Given the description of an element on the screen output the (x, y) to click on. 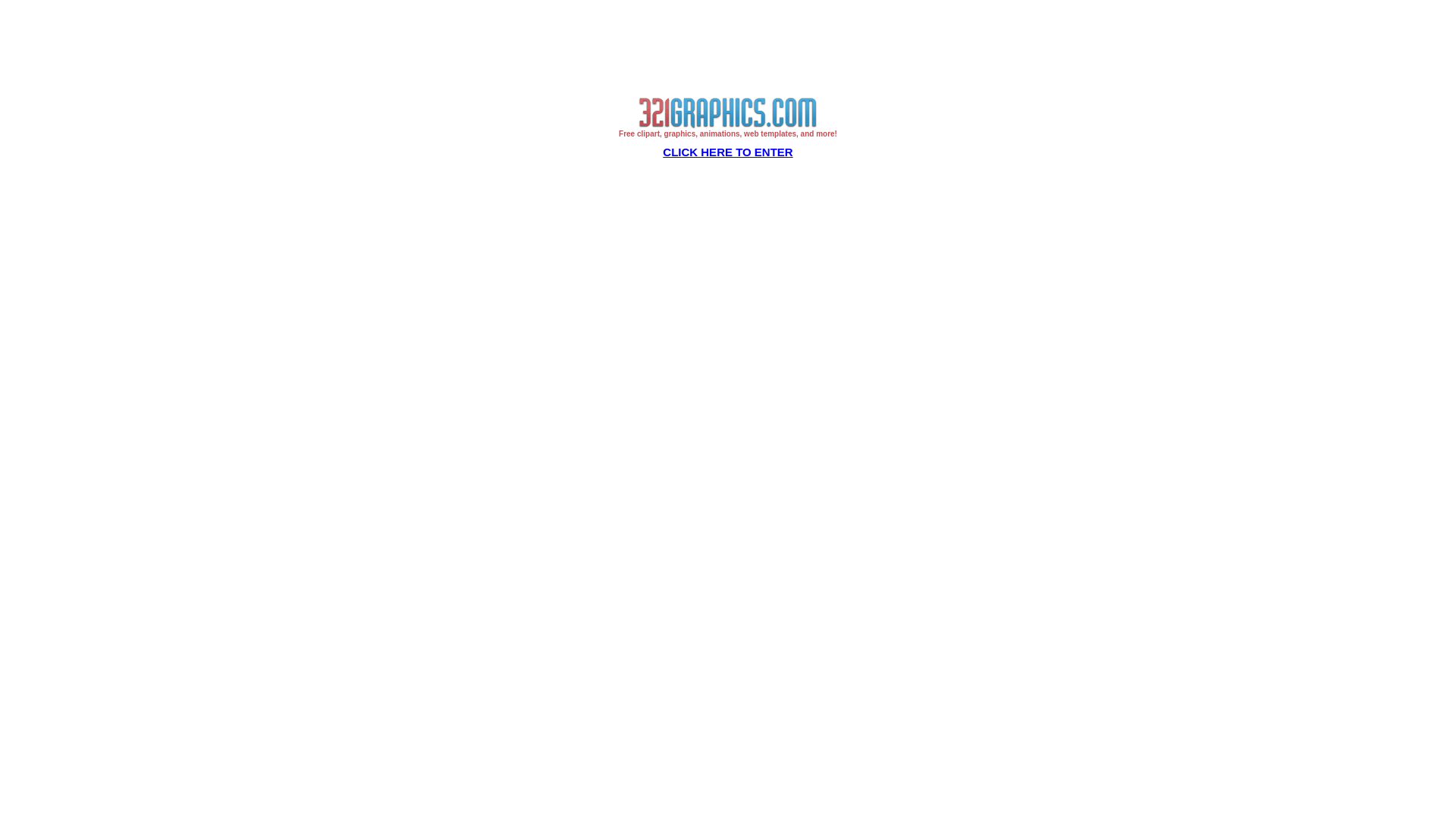
CLICK HERE TO ENTER Element type: text (727, 151)
